Given the description of an element on the screen output the (x, y) to click on. 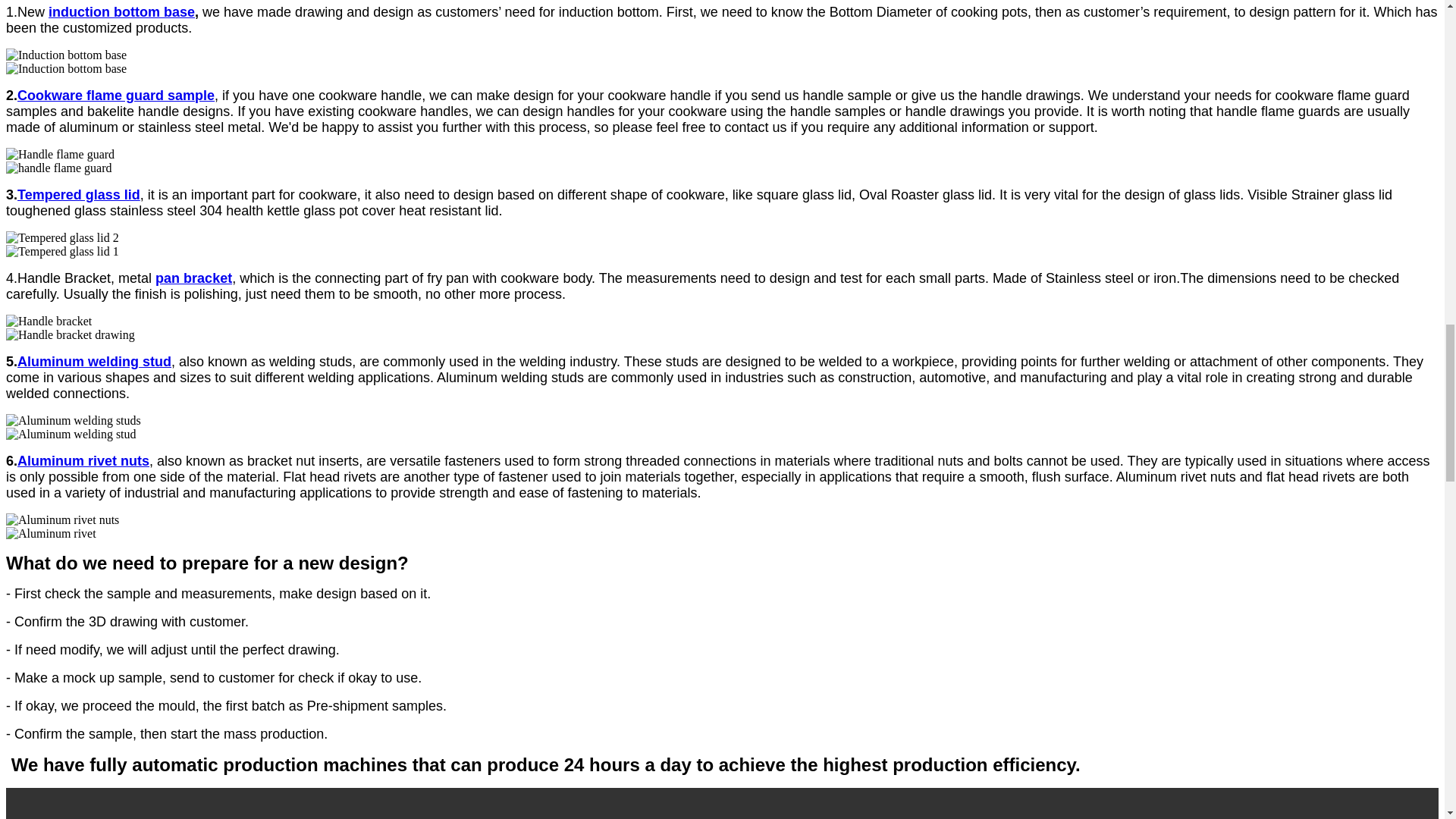
pan bracket (193, 278)
Aluminum welding stud (94, 361)
induction bottom base (121, 11)
Cookware flame guard sample (115, 95)
Tempered glass lid (78, 194)
